Given the description of an element on the screen output the (x, y) to click on. 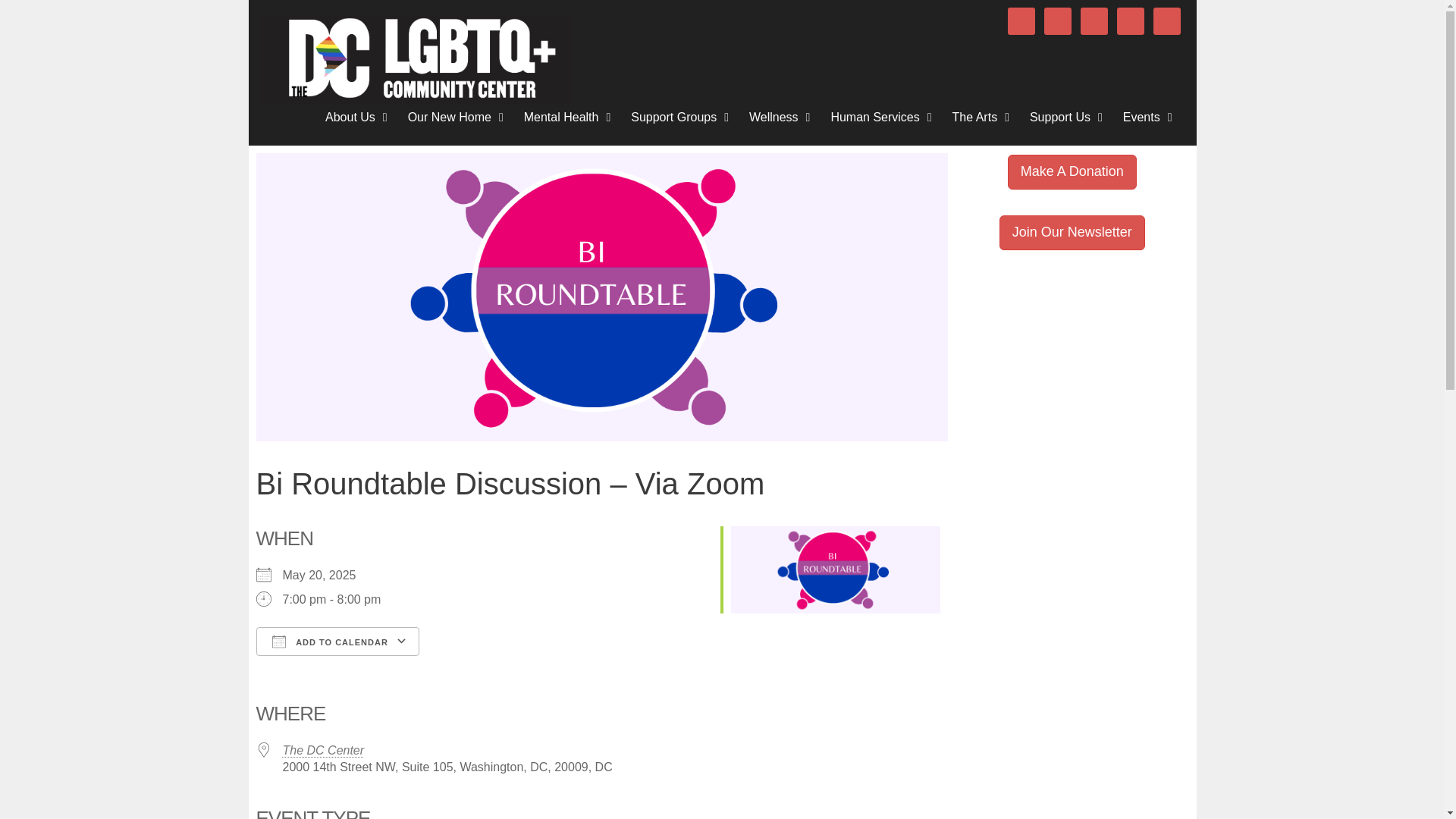
About Us (358, 117)
Mental Health (570, 117)
Our New Home (458, 117)
